Given the description of an element on the screen output the (x, y) to click on. 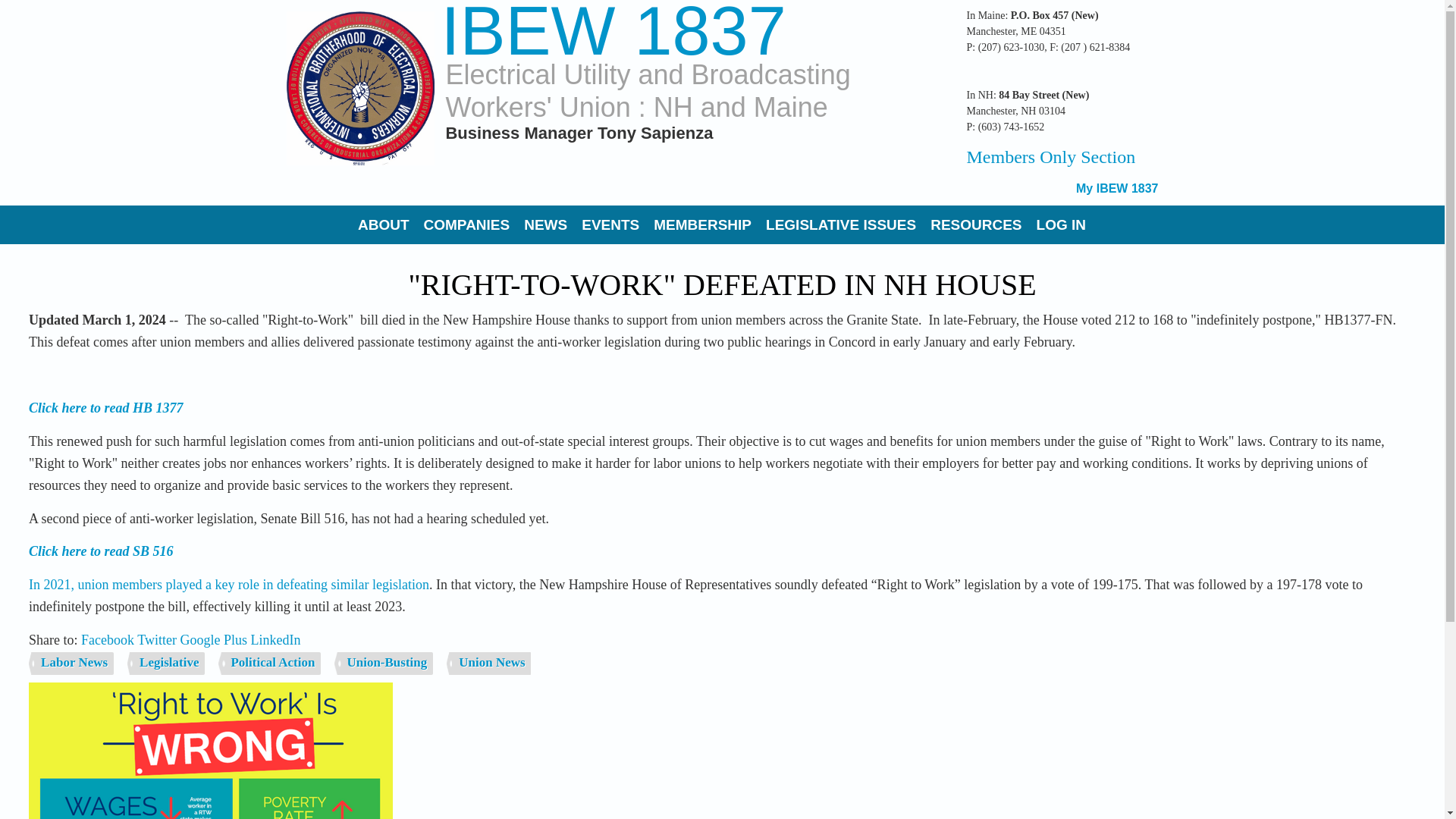
COMPANIES (467, 224)
My IBEW 1837 (1116, 188)
Home (359, 88)
Members Only Section (1050, 157)
ABOUT (383, 224)
EVENTS (610, 224)
Home (613, 31)
IBEW 1837 (613, 31)
MEMBERSHIP (702, 224)
NEWS (545, 224)
